Given the description of an element on the screen output the (x, y) to click on. 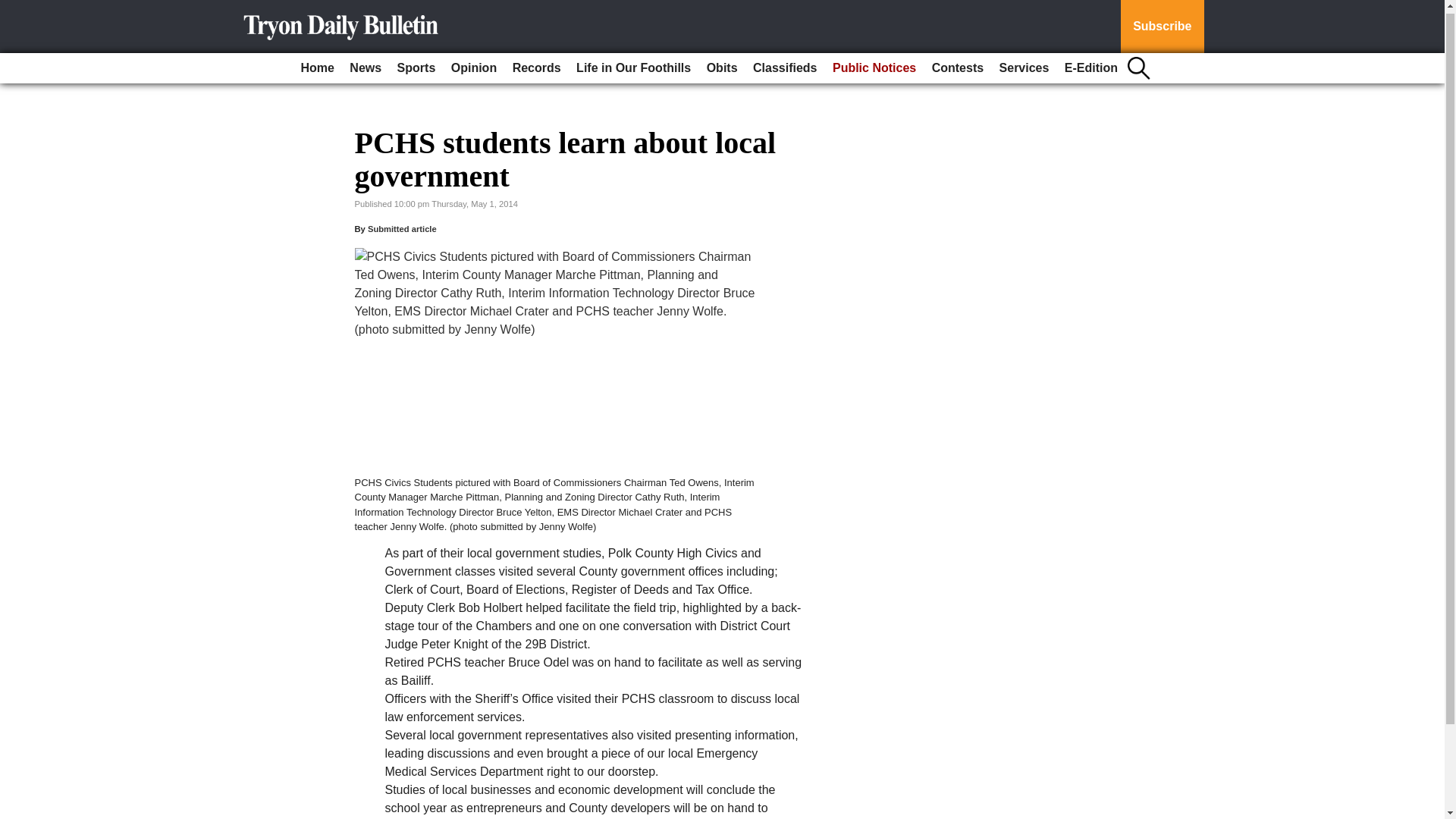
Obits (722, 64)
News (365, 64)
Submitted article (402, 228)
Life in Our Foothills (633, 64)
Go (13, 7)
Contests (958, 64)
Opinion (473, 64)
E-Edition (1091, 64)
Public Notices (874, 64)
Services (1023, 64)
Home (316, 64)
Subscribe (1162, 24)
Classifieds (784, 64)
Sports (416, 64)
Records (536, 64)
